Given the description of an element on the screen output the (x, y) to click on. 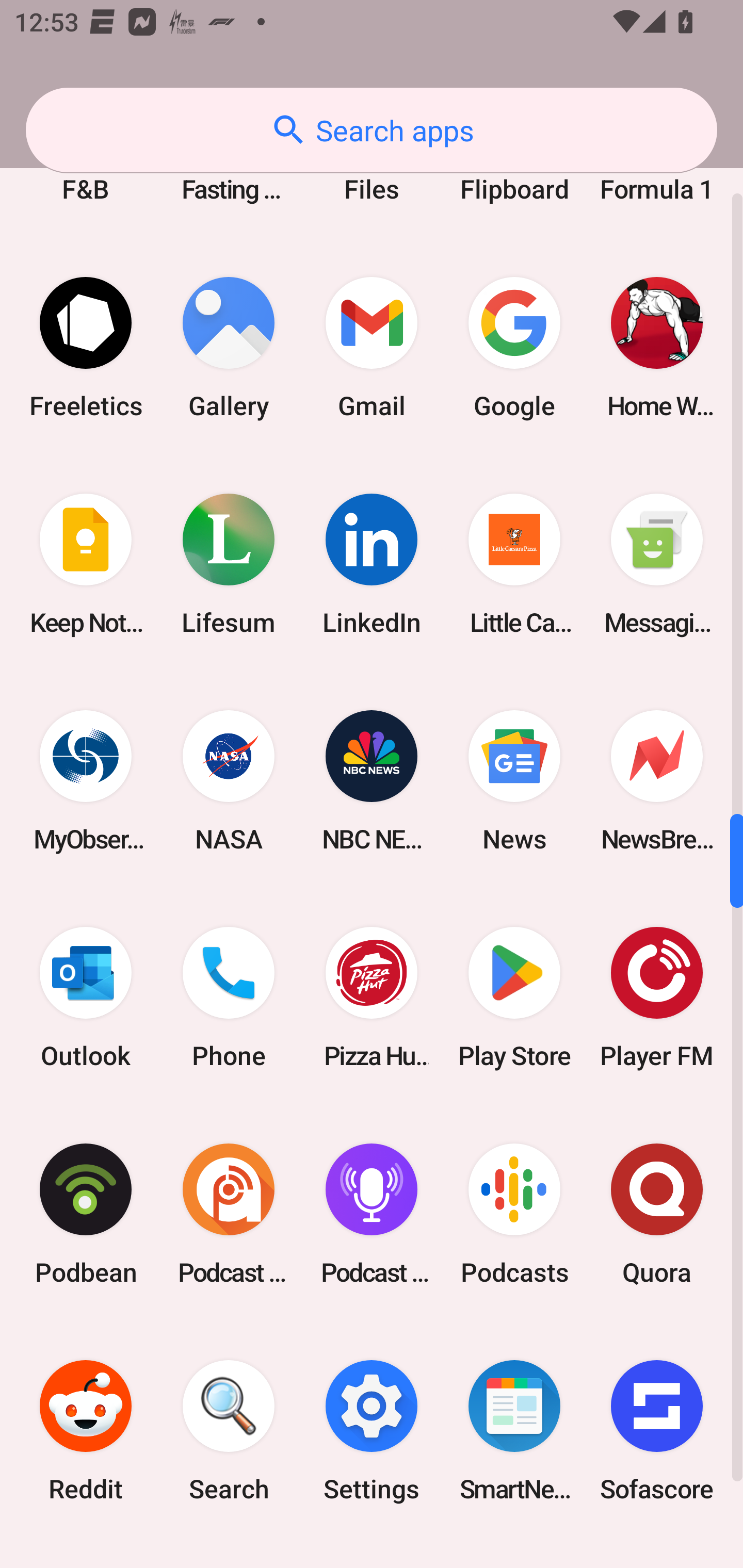
  Search apps (371, 130)
Freeletics (85, 347)
Gallery (228, 347)
Gmail (371, 347)
Google (514, 347)
Home Workout (656, 347)
Keep Notes (85, 564)
Lifesum (228, 564)
LinkedIn (371, 564)
Little Caesars Pizza (514, 564)
Messaging (656, 564)
MyObservatory (85, 780)
NASA (228, 780)
NBC NEWS (371, 780)
News (514, 780)
NewsBreak (656, 780)
Outlook (85, 997)
Phone (228, 997)
Pizza Hut HK & Macau (371, 997)
Play Store (514, 997)
Player FM (656, 997)
Podbean (85, 1213)
Podcast Addict (228, 1213)
Podcast Player (371, 1213)
Podcasts (514, 1213)
Quora (656, 1213)
Reddit (85, 1430)
Search (228, 1430)
Settings (371, 1430)
SmartNews (514, 1430)
Sofascore (656, 1430)
